Given the description of an element on the screen output the (x, y) to click on. 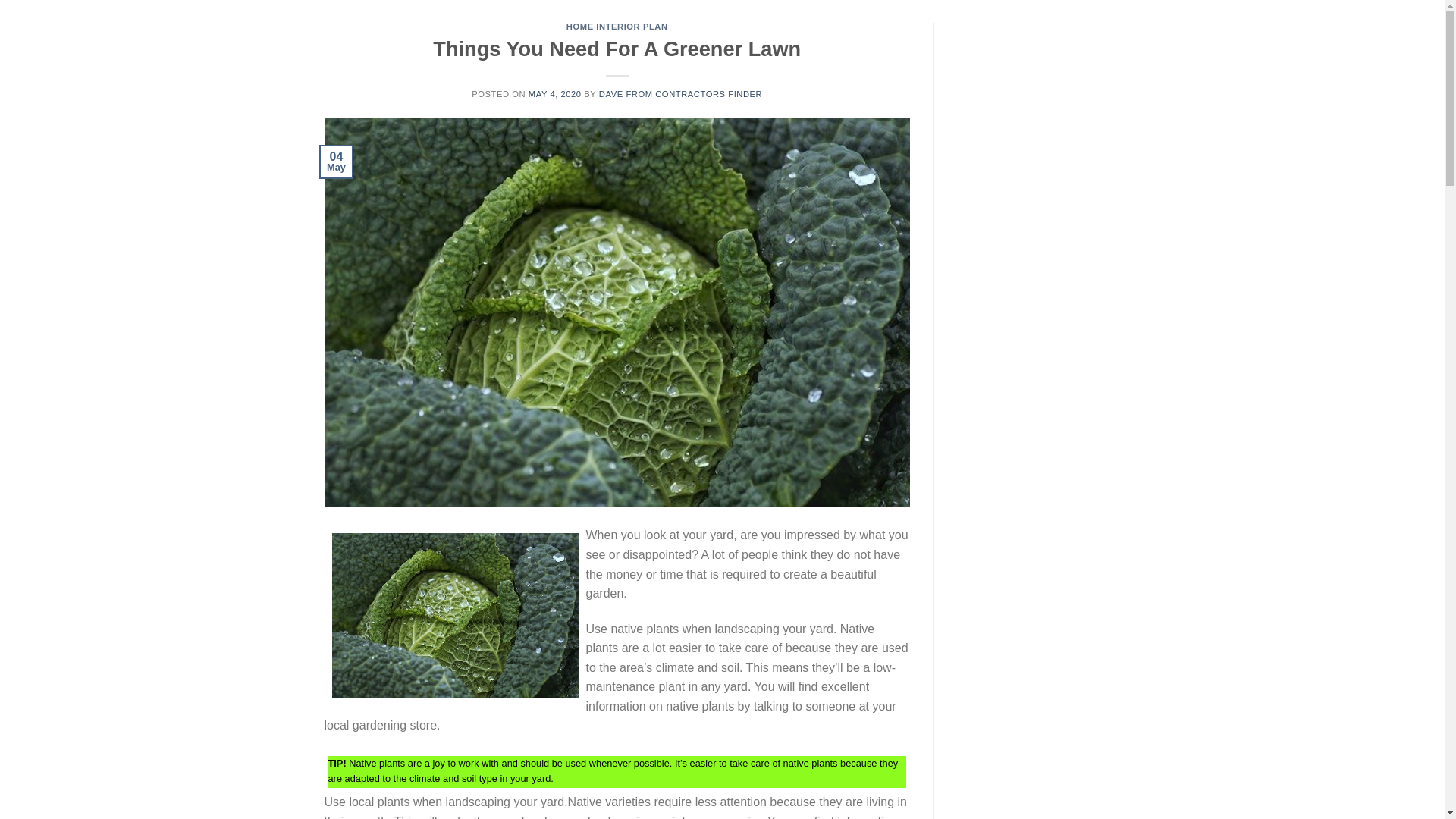
MAY 4, 2020 (554, 93)
DAVE FROM CONTRACTORS FINDER (679, 93)
HOME INTERIOR PLAN (617, 26)
